Given the description of an element on the screen output the (x, y) to click on. 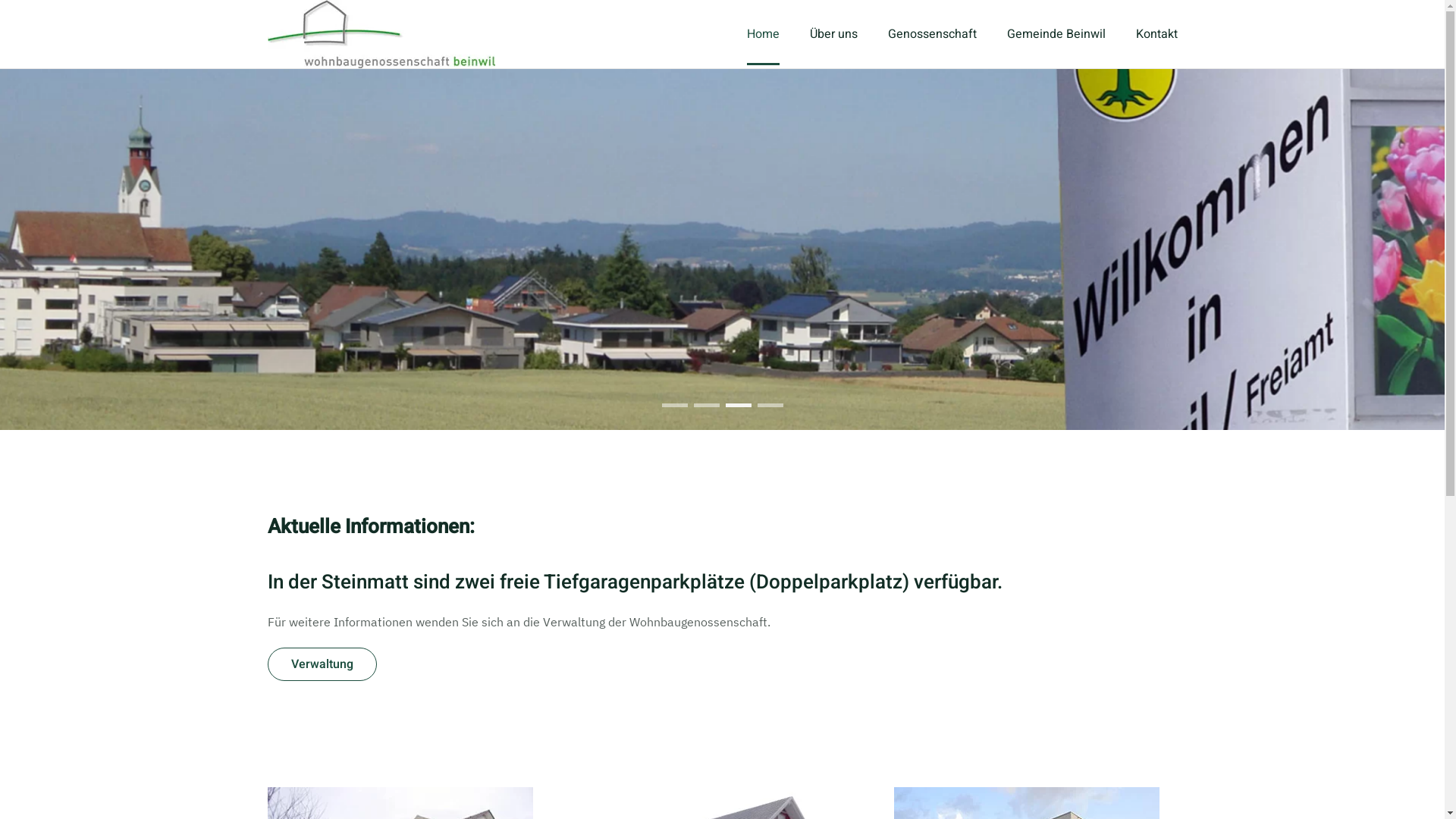
Kontakt Element type: text (1156, 33)
Verwaltung Element type: text (321, 663)
Home Element type: text (762, 33)
Gemeinde Beinwil Element type: text (1056, 33)
Genossenschaft Element type: text (931, 33)
